Given the description of an element on the screen output the (x, y) to click on. 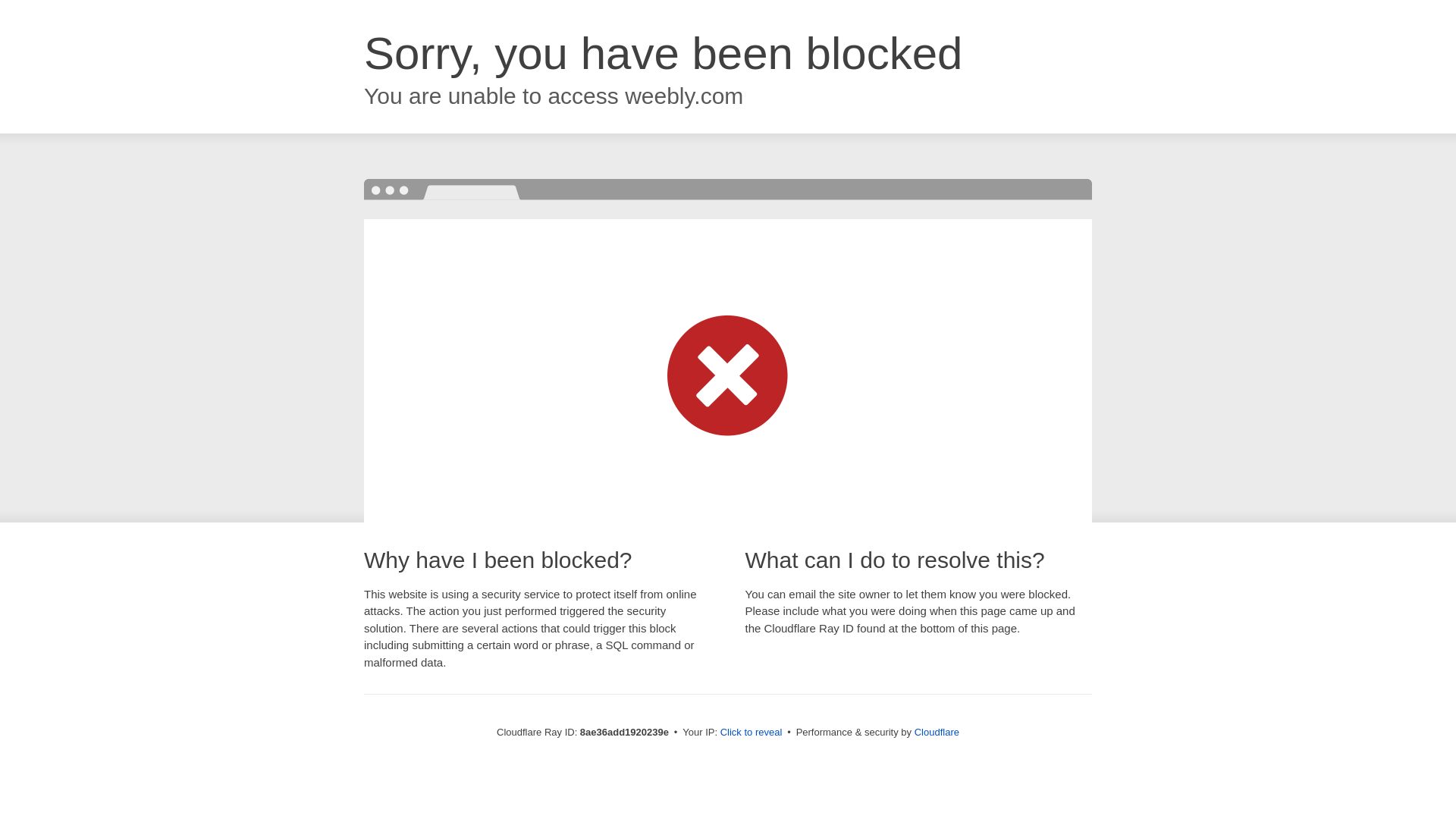
Click to reveal (751, 732)
Cloudflare (936, 731)
